Given the description of an element on the screen output the (x, y) to click on. 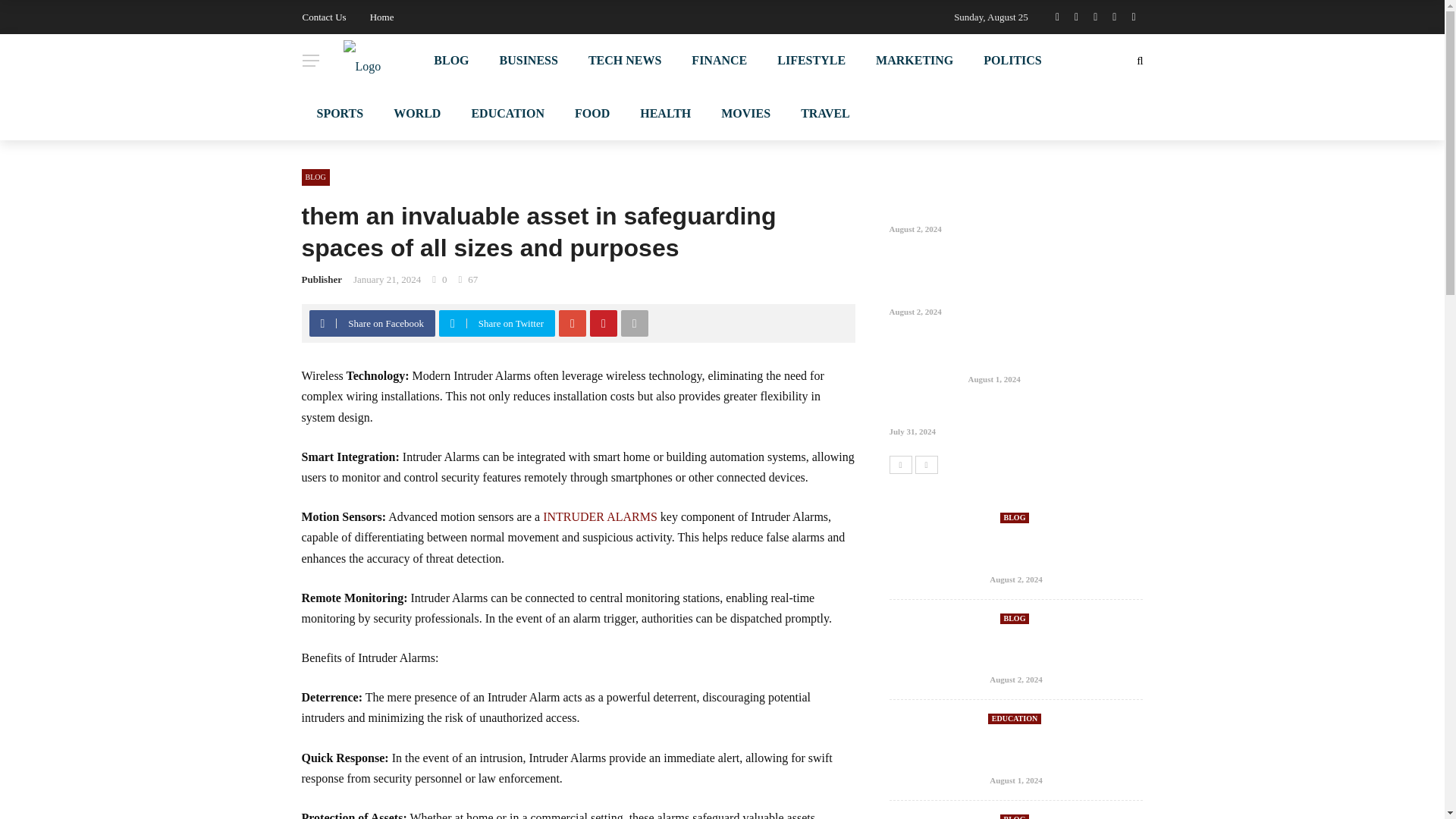
TECH NEWS (625, 60)
FOOD (591, 113)
LIFESTYLE (810, 60)
BLOG (451, 60)
WORLD (416, 113)
SPORTS (339, 113)
BUSINESS (528, 60)
Contact Us (323, 16)
EDUCATION (507, 113)
MARKETING (914, 60)
